Given the description of an element on the screen output the (x, y) to click on. 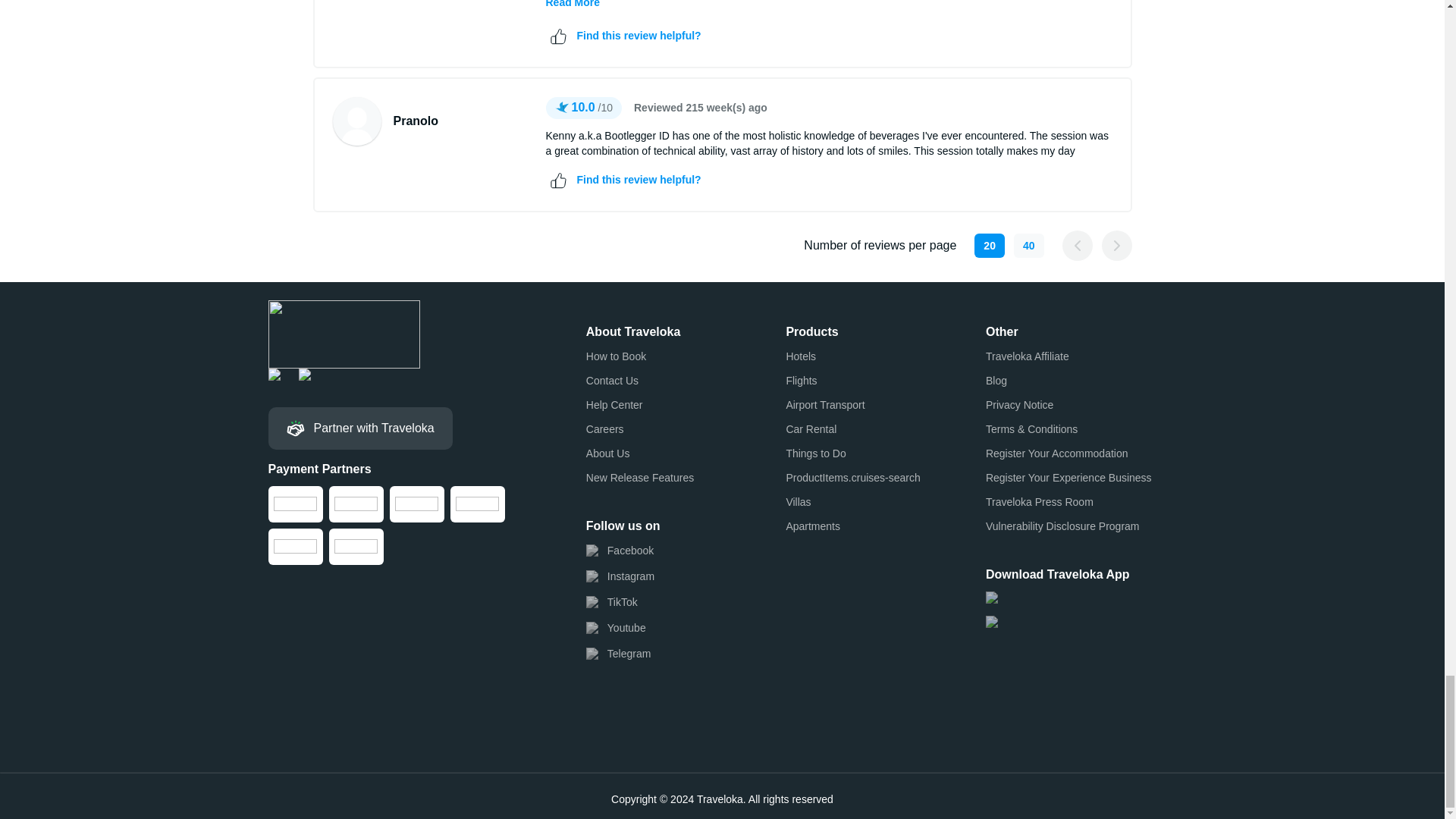
Instagram (619, 575)
Privacy Notice (1018, 404)
Car Rental (810, 428)
Telegram (618, 653)
Register Your Accommodation (1056, 453)
TikTok (611, 601)
Things to Do (815, 453)
Hotels (800, 355)
Airport Transport (825, 404)
Contact Us (612, 380)
Facebook (619, 549)
About Us (608, 453)
How to Book (616, 355)
Villas (798, 501)
Blog (996, 380)
